Given the description of an element on the screen output the (x, y) to click on. 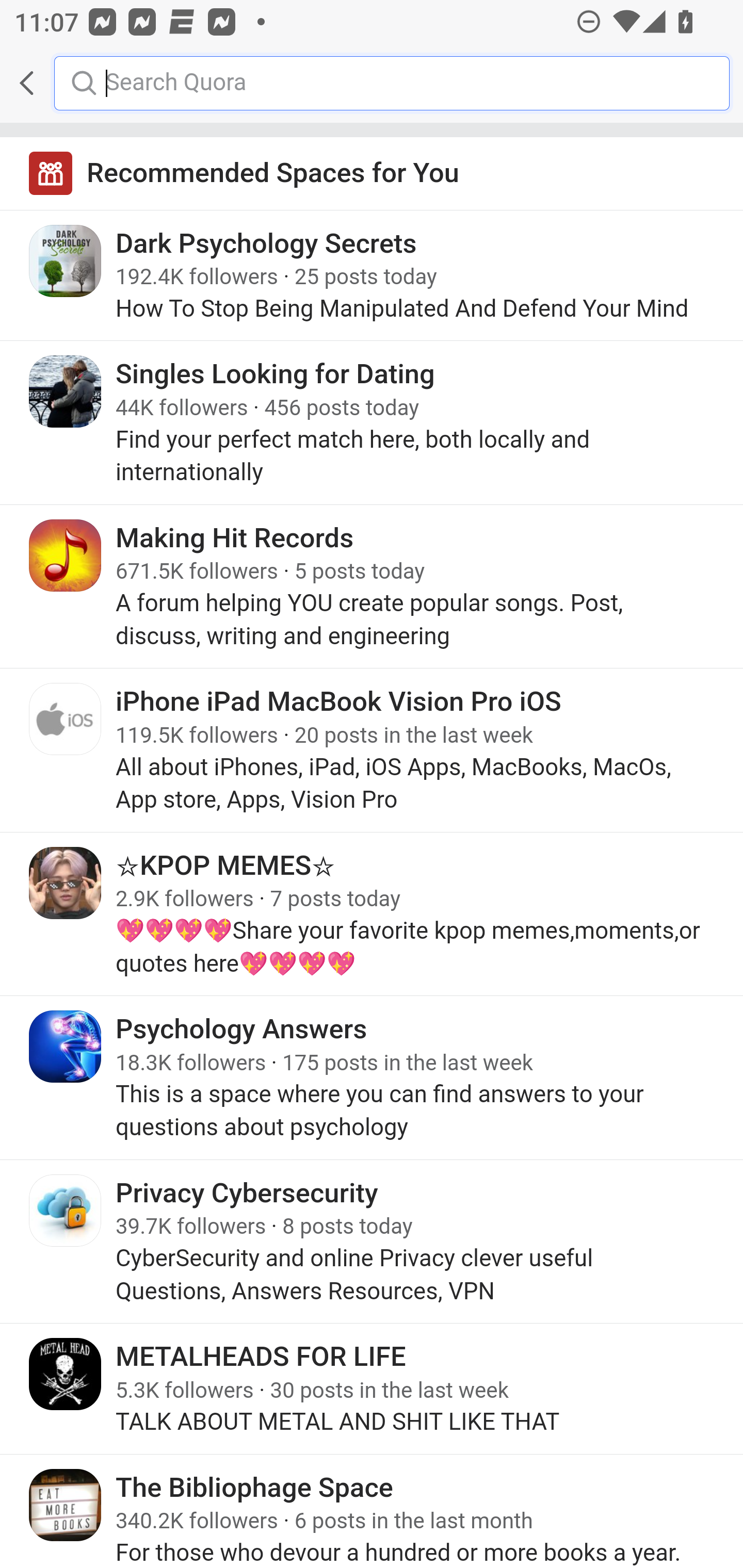
Me (64, 83)
Icon for Dark Psychology Secrets (65, 260)
Icon for Singles Looking for Dating (65, 391)
Icon for Making Hit Records (65, 554)
Icon for iPhone iPad MacBook Vision Pro iOS (65, 718)
Icon for ☆KPOP MEMES☆ (65, 882)
Icon for Psychology Answers (65, 1045)
Icon for Privacy Cybersecurity (65, 1209)
Icon for METALHEADS FOR LIFE (65, 1374)
Icon for The Bibliophage Space (65, 1504)
